Given the description of an element on the screen output the (x, y) to click on. 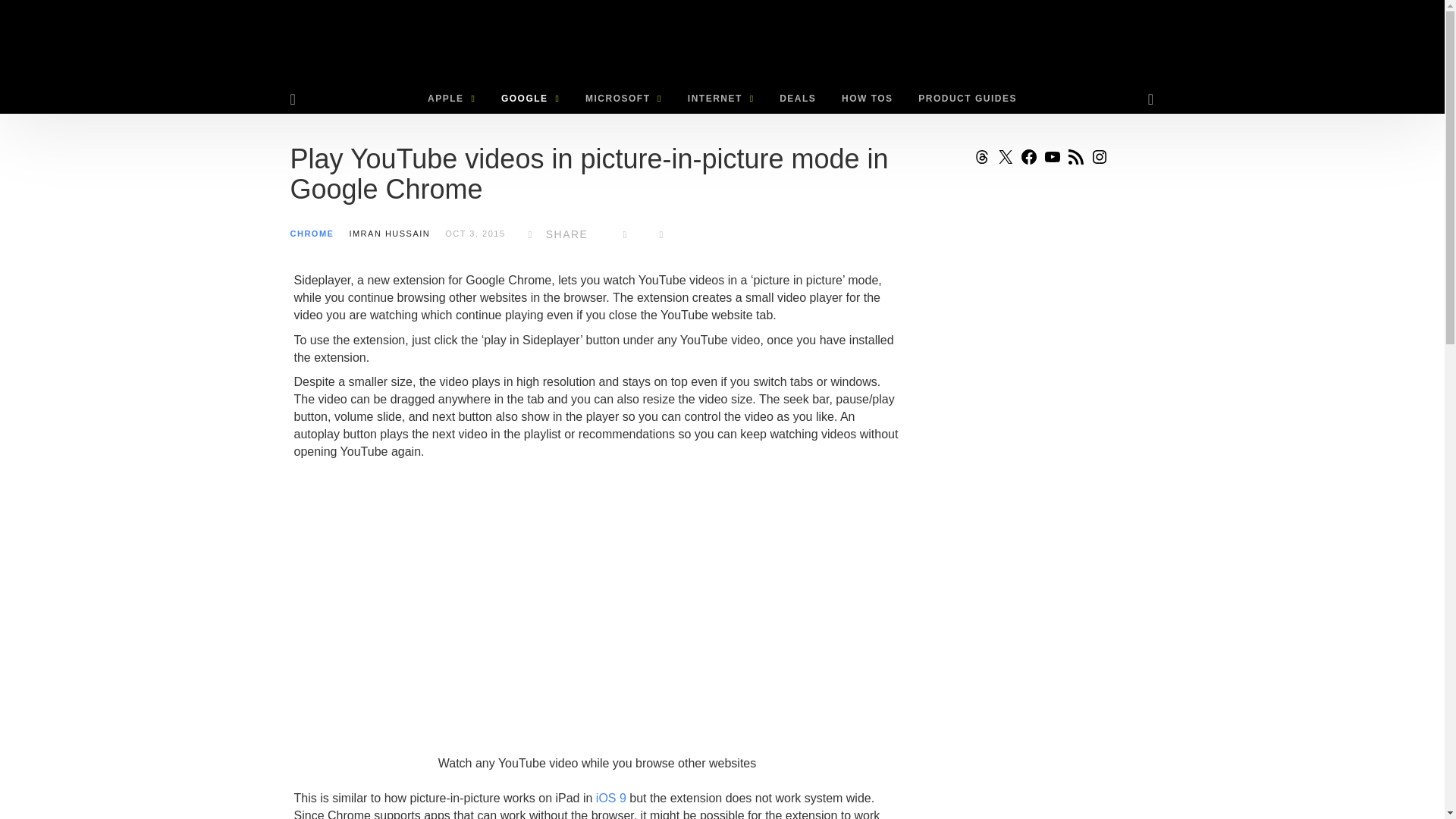
DEALS (797, 98)
View all posts in Chrome (311, 233)
APPLE (451, 98)
PRODUCT GUIDES (967, 98)
INTERNET (721, 98)
CHROME (311, 233)
Posts by Imran Hussain (389, 233)
GOOGLE (529, 98)
More (661, 234)
SHARE (554, 234)
